Given the description of an element on the screen output the (x, y) to click on. 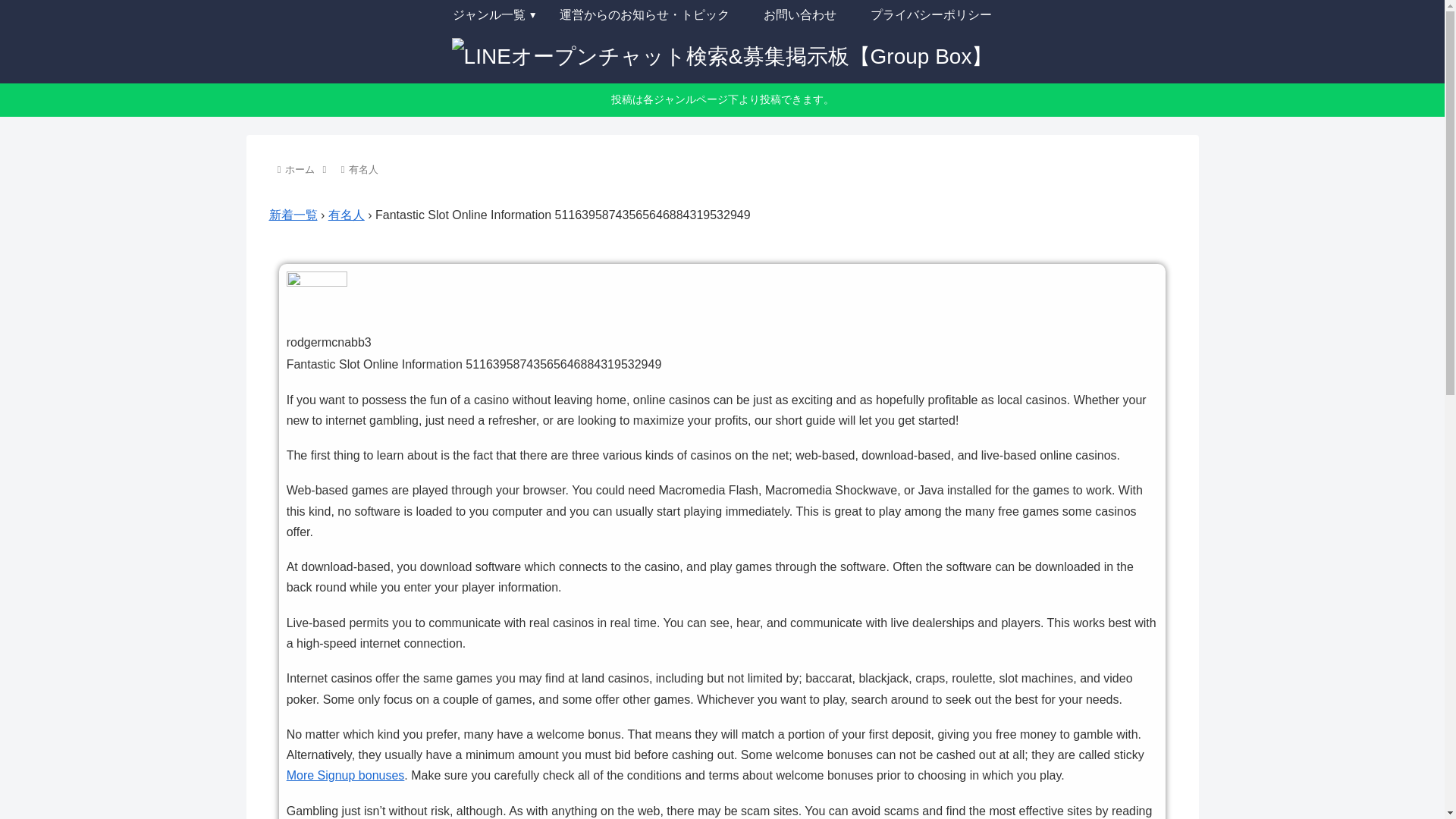
More Signup bonuses (345, 775)
